Given the description of an element on the screen output the (x, y) to click on. 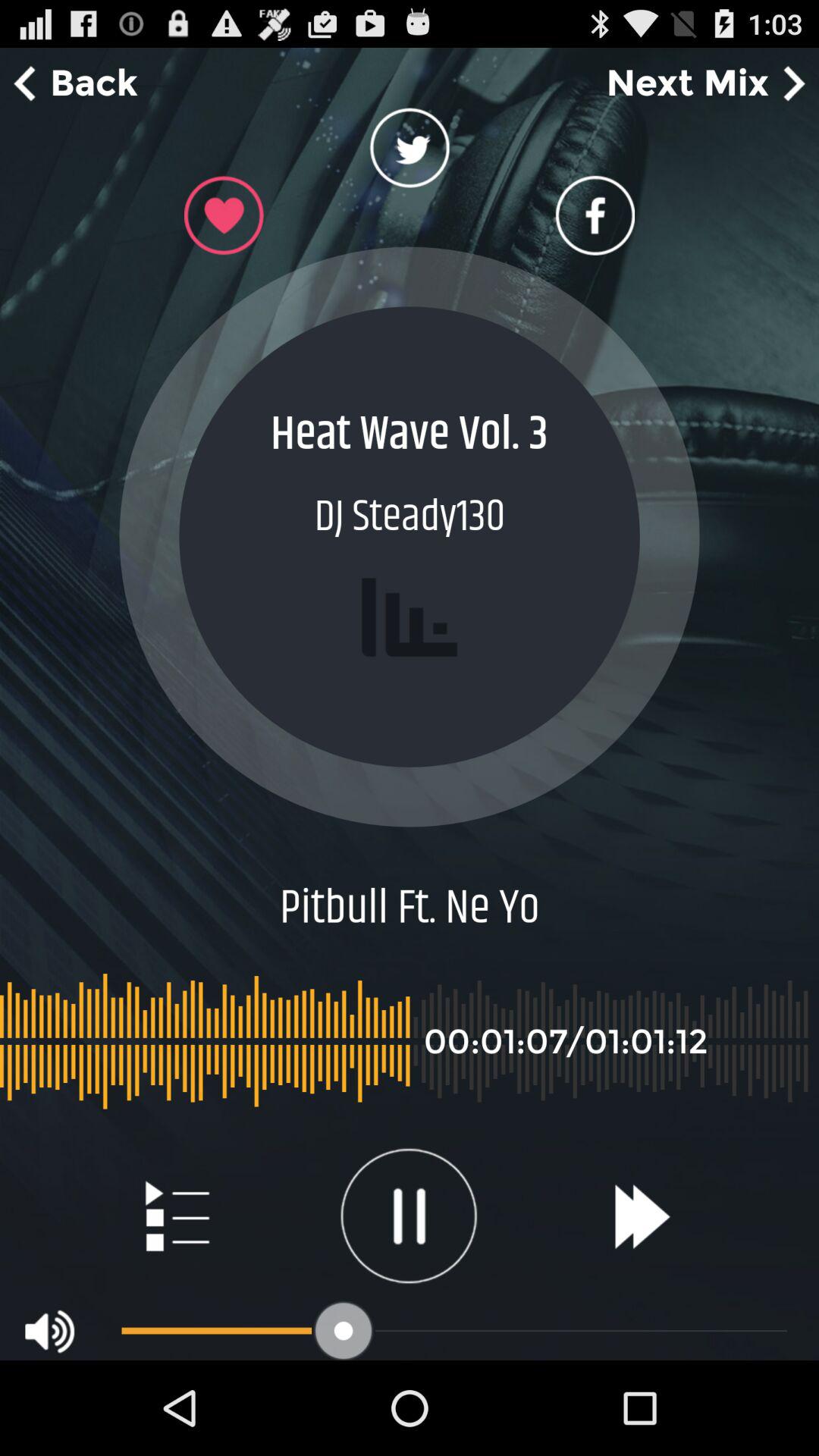
like button (223, 215)
